Given the description of an element on the screen output the (x, y) to click on. 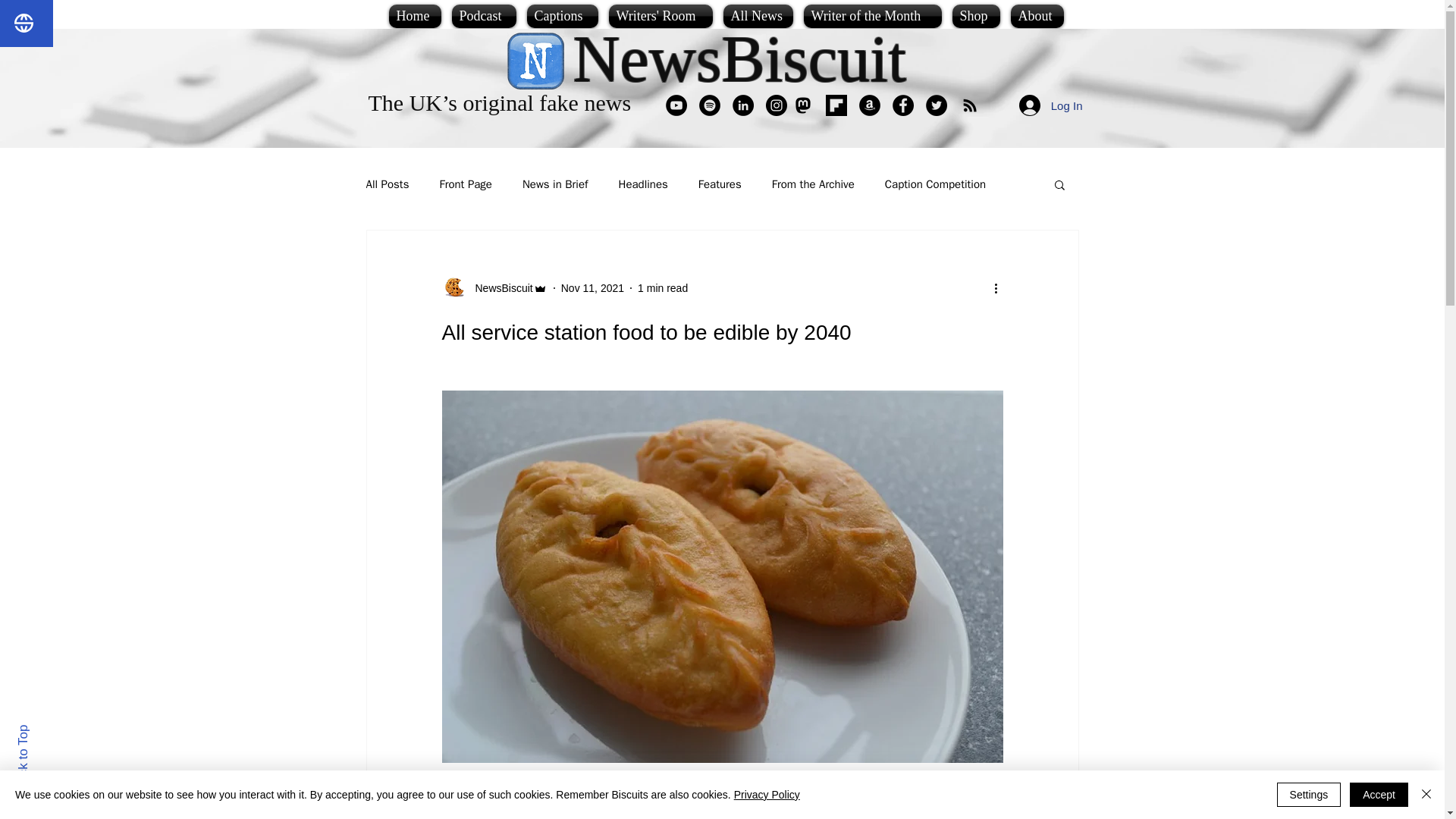
Writers' Room (660, 15)
Headlines (643, 184)
1 min read (662, 287)
NewsBiscuit (740, 58)
Writer of the Month (871, 15)
Captions (562, 15)
Podcast (483, 15)
Home (416, 15)
About (1037, 15)
Front Page (465, 184)
